Given the description of an element on the screen output the (x, y) to click on. 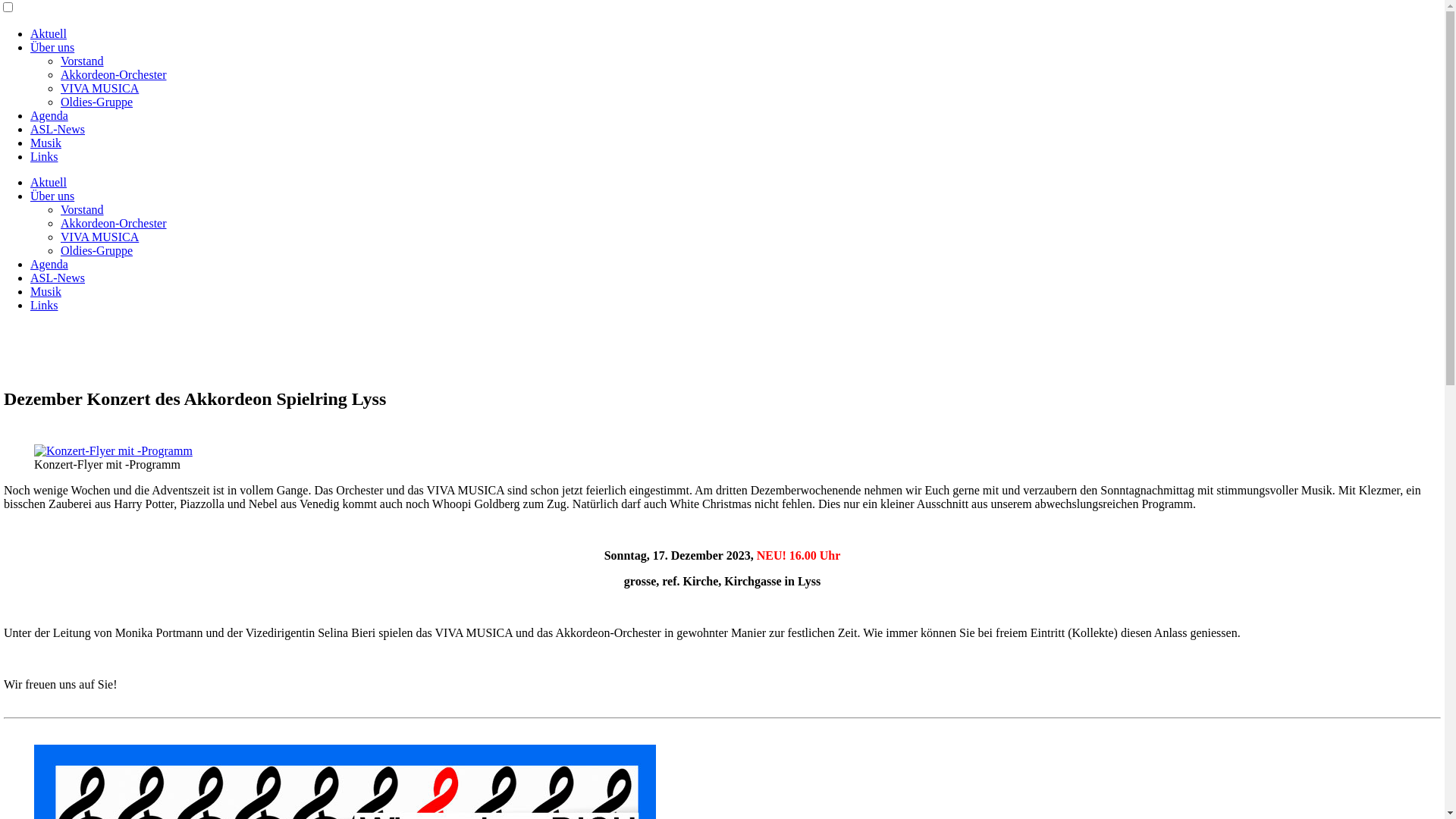
VIVA MUSICA Element type: text (99, 87)
Oldies-Gruppe Element type: text (96, 101)
Agenda Element type: text (49, 263)
ASL-News Element type: text (57, 277)
Akkordeon-Orchester Element type: text (113, 222)
Agenda Element type: text (49, 115)
Akkordeon-Orchester Element type: text (113, 74)
Links Element type: text (43, 156)
Aktuell Element type: text (48, 33)
Links Element type: text (43, 304)
Musik Element type: text (45, 142)
Vorstand Element type: text (81, 209)
ASL-News Element type: text (57, 128)
VIVA MUSICA Element type: text (99, 236)
Vorstand Element type: text (81, 60)
Musik Element type: text (45, 291)
Oldies-Gruppe Element type: text (96, 250)
Aktuell Element type: text (48, 181)
